Given the description of an element on the screen output the (x, y) to click on. 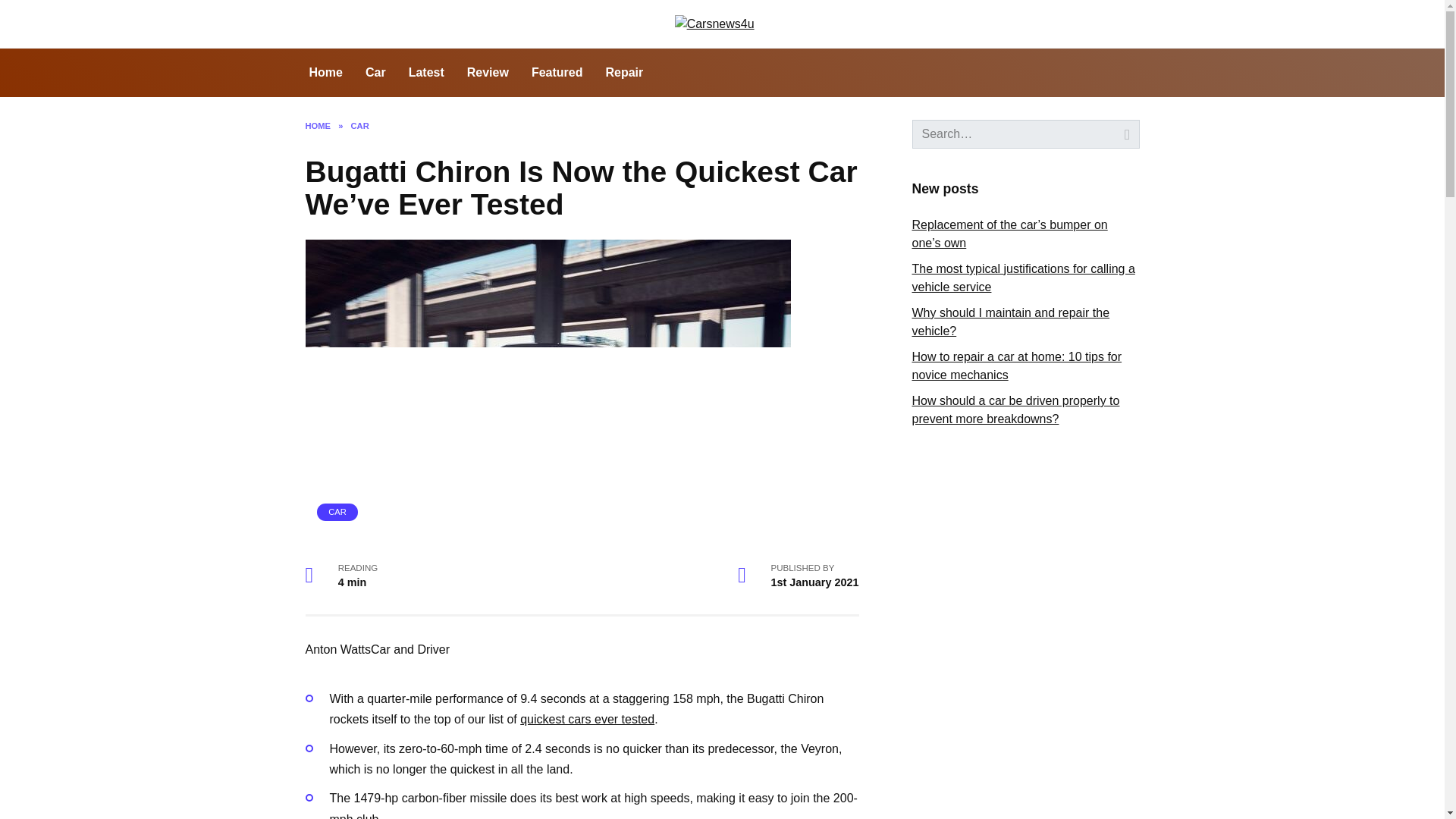
HOME (317, 125)
Latest (426, 72)
quickest cars ever tested (586, 718)
Car (375, 72)
CAR (337, 511)
Home (325, 72)
Featured (556, 72)
Review (487, 72)
Repair (623, 72)
How to repair a car at home: 10 tips for novice mechanics (1016, 365)
Why should I maintain and repair the vehicle? (1010, 321)
CAR (359, 125)
